Given the description of an element on the screen output the (x, y) to click on. 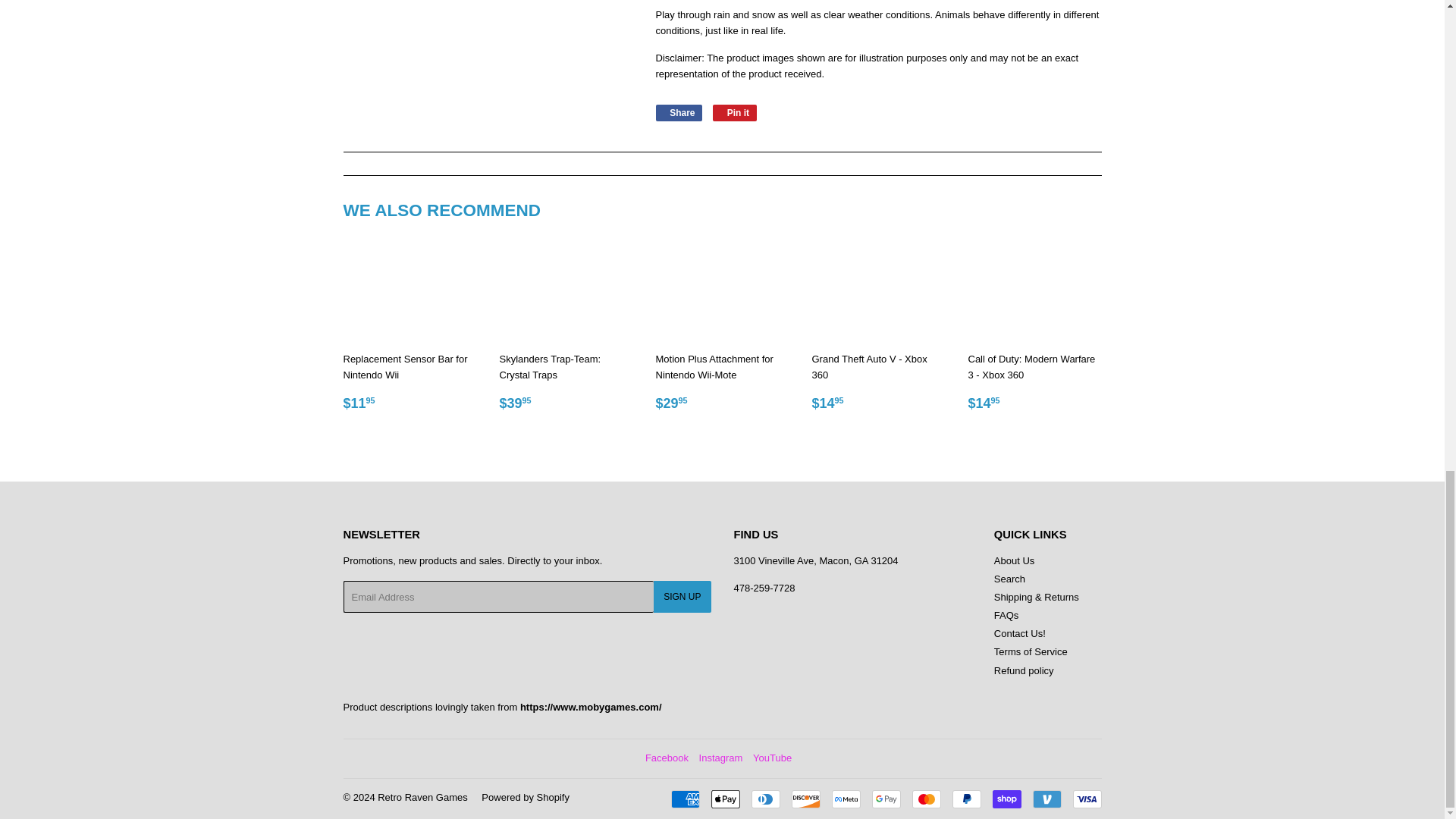
Visa (1085, 799)
Share on Facebook (678, 112)
Apple Pay (725, 799)
Meta Pay (845, 799)
Mastercard (925, 799)
Retro Raven Games on Instagram (720, 757)
Google Pay (886, 799)
American Express (683, 799)
Venmo (1046, 799)
PayPal (966, 799)
Retro Raven Games on Facebook (666, 757)
Retro Raven Games on YouTube (772, 757)
Shop Pay (1005, 799)
Pin on Pinterest (735, 112)
Discover (806, 799)
